Given the description of an element on the screen output the (x, y) to click on. 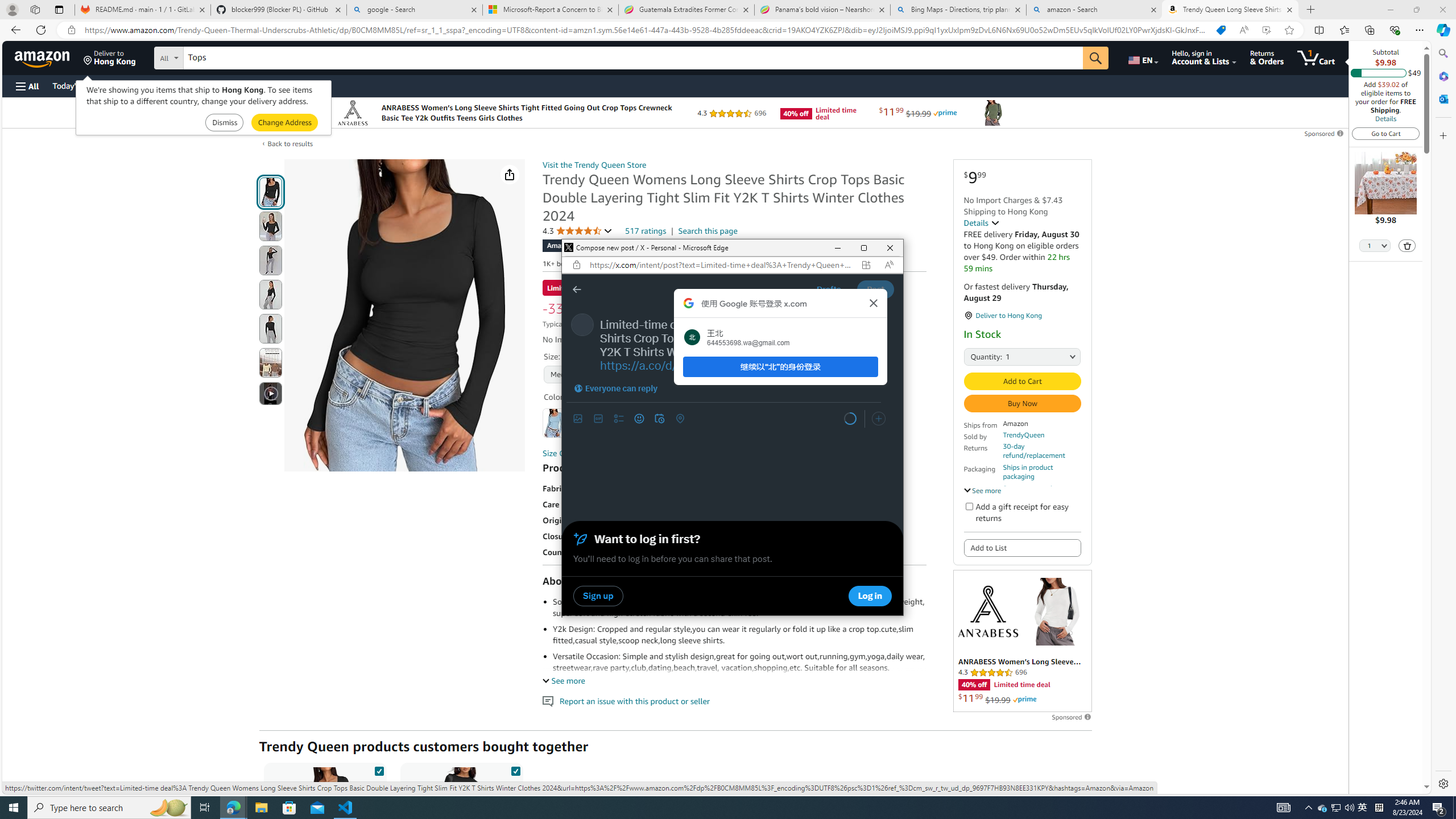
Sponsored ad (1022, 640)
Logo (987, 611)
AutomationID: 4105 (1283, 807)
Add to Cart (1021, 381)
Delete (1407, 245)
Tag Location (679, 418)
Microsoft Edge - 3 running windows (233, 807)
Tray Input Indicator - Chinese (Simplified, China) (1378, 807)
